Given the description of an element on the screen output the (x, y) to click on. 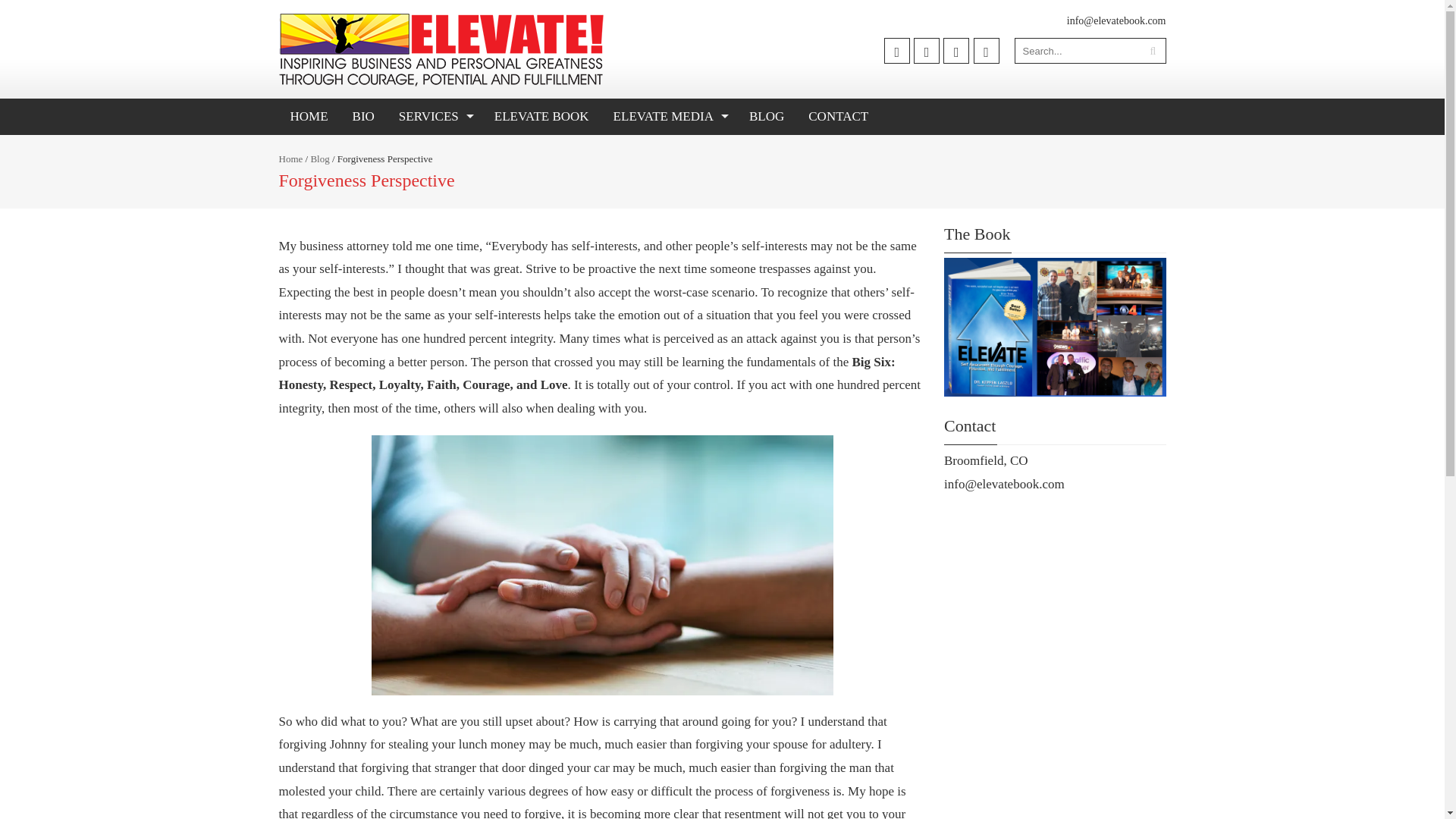
Broomfield, CO (985, 460)
Home (290, 158)
HOME (309, 116)
CONTACT (837, 116)
ELEVATE BOOK (541, 116)
BLOG (766, 116)
ELEVATE MEDIA (669, 116)
BIO (362, 116)
SERVICES (434, 116)
Blog (319, 158)
